Given the description of an element on the screen output the (x, y) to click on. 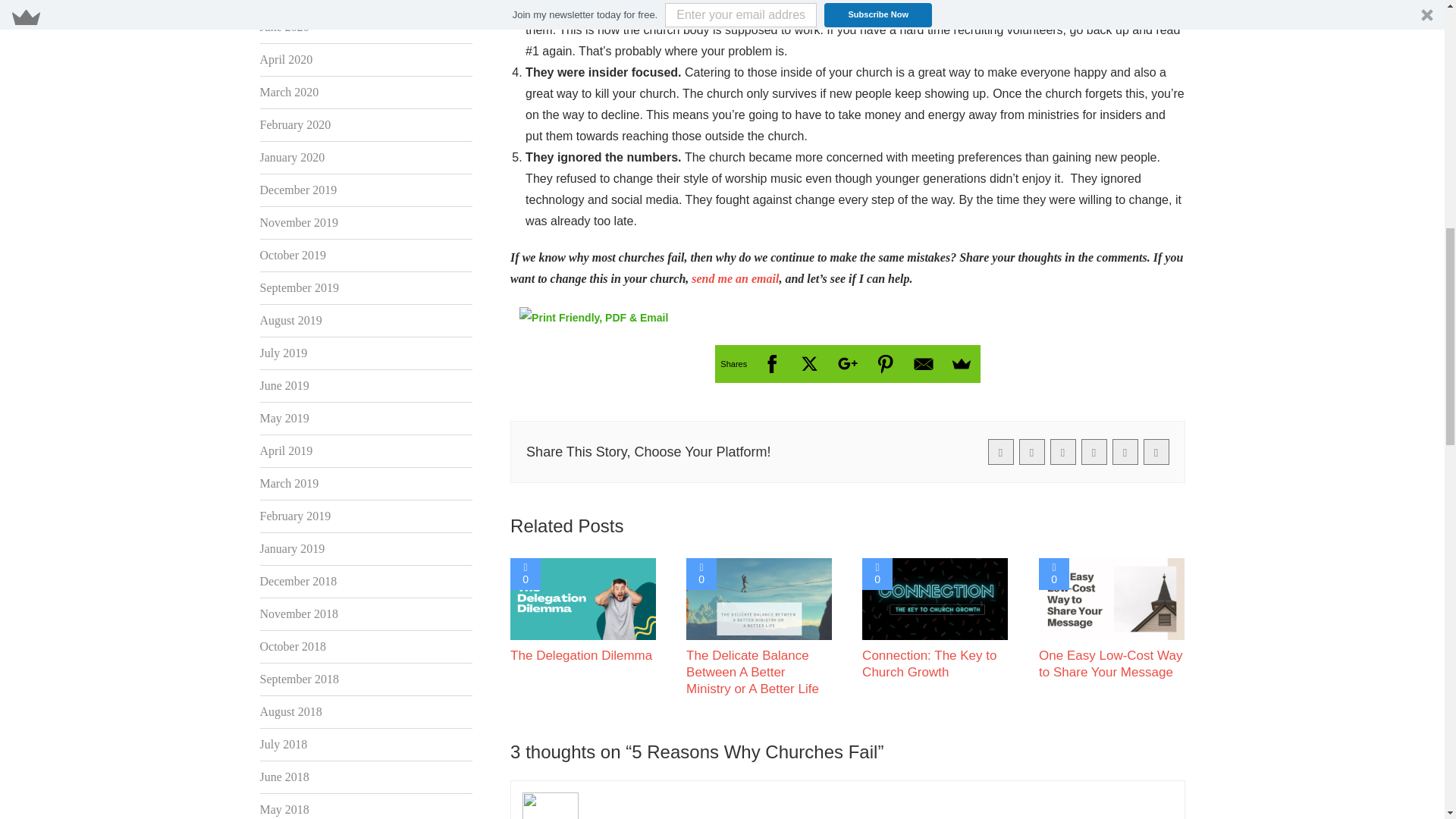
send me an email (734, 278)
Like this (1053, 573)
Like this (876, 573)
0 (525, 573)
Facebook (771, 363)
Email (923, 363)
Like this (525, 573)
Like this (700, 573)
SumoMe (960, 363)
Pinterest (885, 363)
X (809, 363)
